Given the description of an element on the screen output the (x, y) to click on. 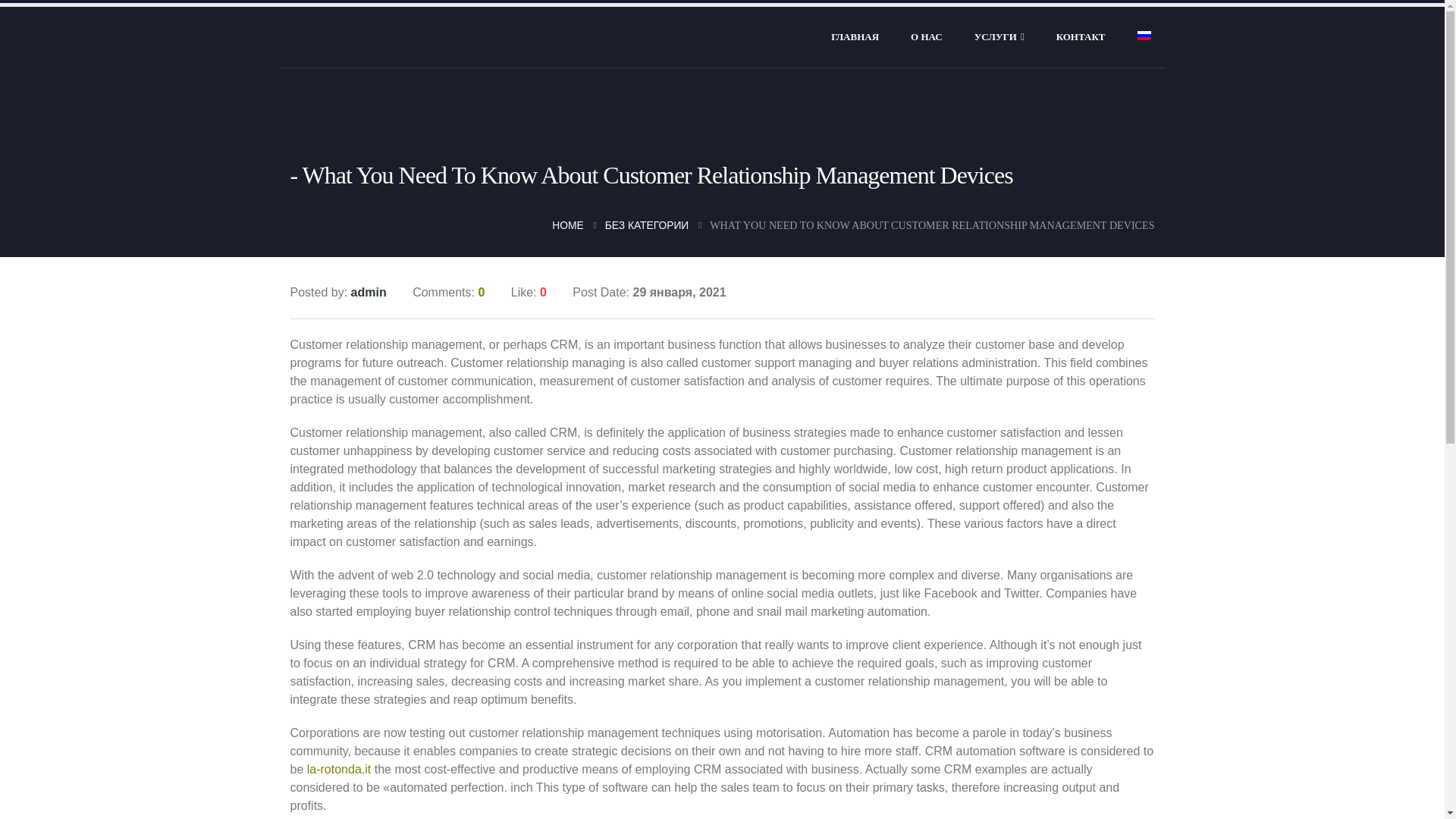
Go to Home Page (567, 225)
la-rotonda.it (339, 768)
HOME (567, 225)
